Given the description of an element on the screen output the (x, y) to click on. 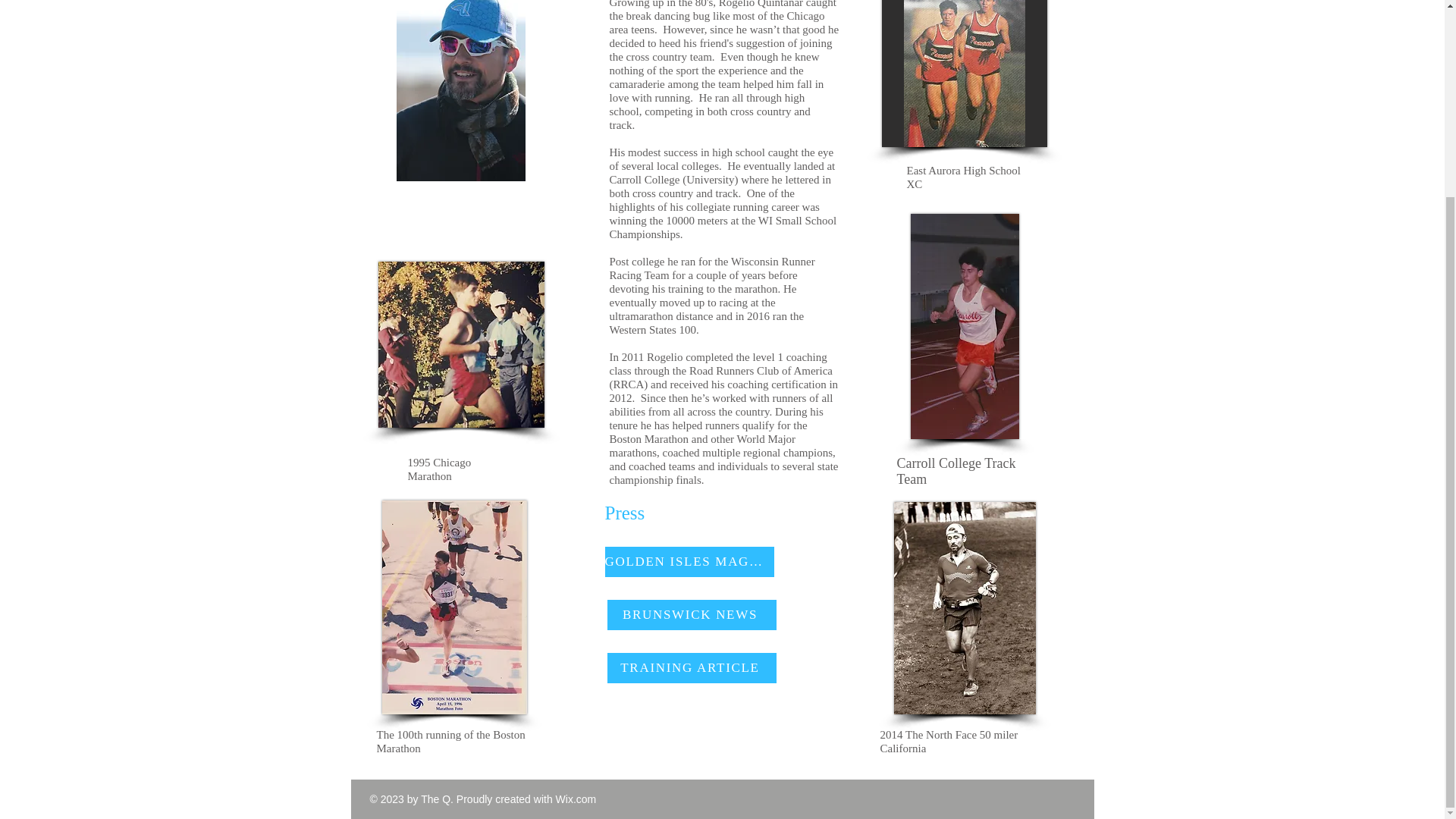
BRUNSWICK NEWS (691, 614)
GOLDEN ISLES MAGAZINE (689, 562)
TRAINING ARTICLE (691, 667)
Wix.com (576, 799)
